Given the description of an element on the screen output the (x, y) to click on. 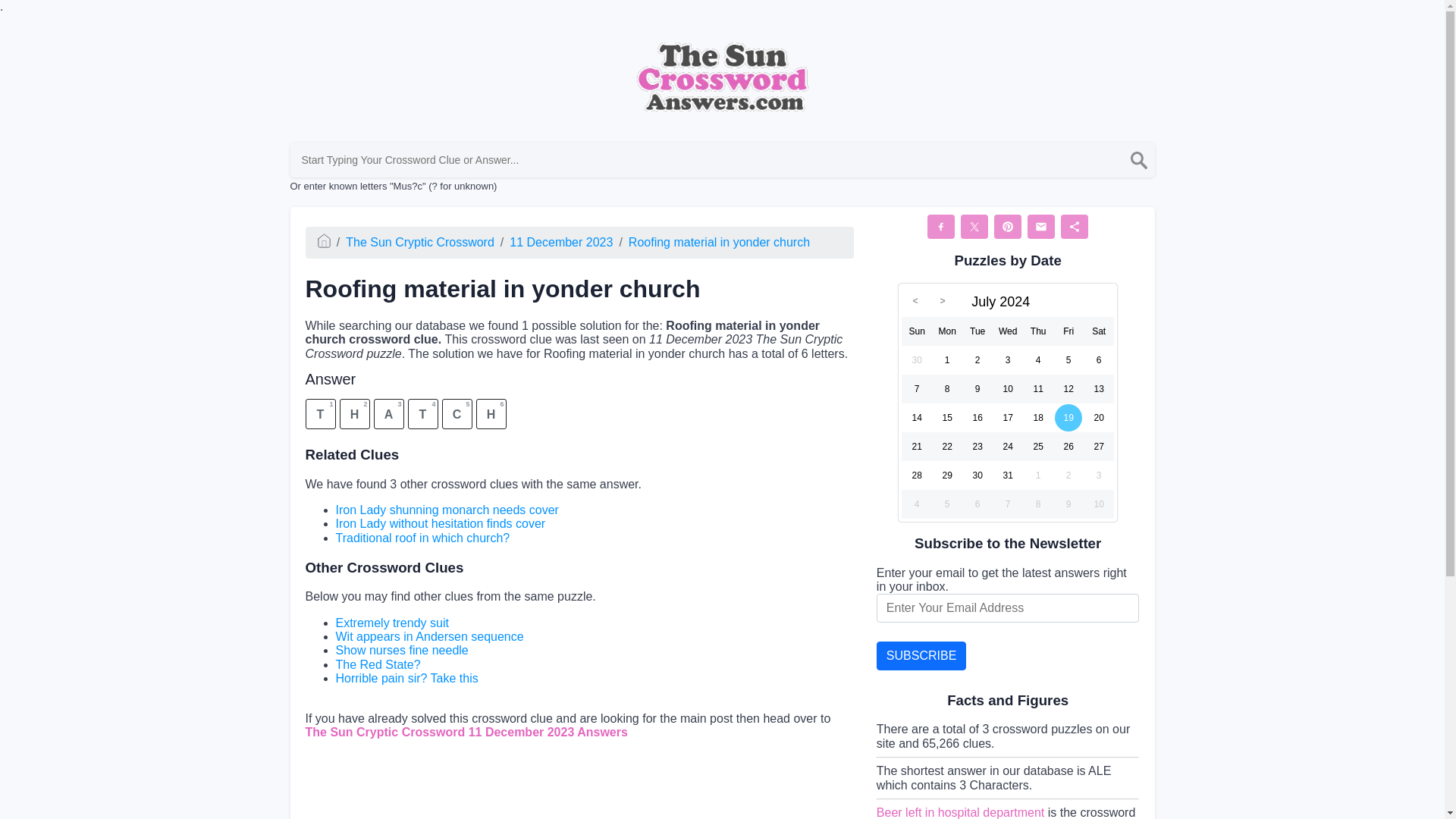
Subscribe (921, 655)
11 December 2023 (560, 241)
Beer left in hospital department (959, 812)
Iron Lady shunning monarch needs cover (445, 509)
Roofing material in yonder church (718, 241)
Show nurses fine needle (400, 649)
Wit appears in Andersen sequence (428, 635)
Subscribe (921, 655)
The Red State? (377, 664)
Traditional roof in which church? (421, 537)
The Sun Cryptic Crossword 11 December 2023 Answers (465, 731)
Horrible pain sir? Take this (405, 677)
Extremely trendy suit (391, 622)
The Sun Cryptic Crossword (420, 241)
Iron Lady without hesitation finds cover (439, 522)
